Given the description of an element on the screen output the (x, y) to click on. 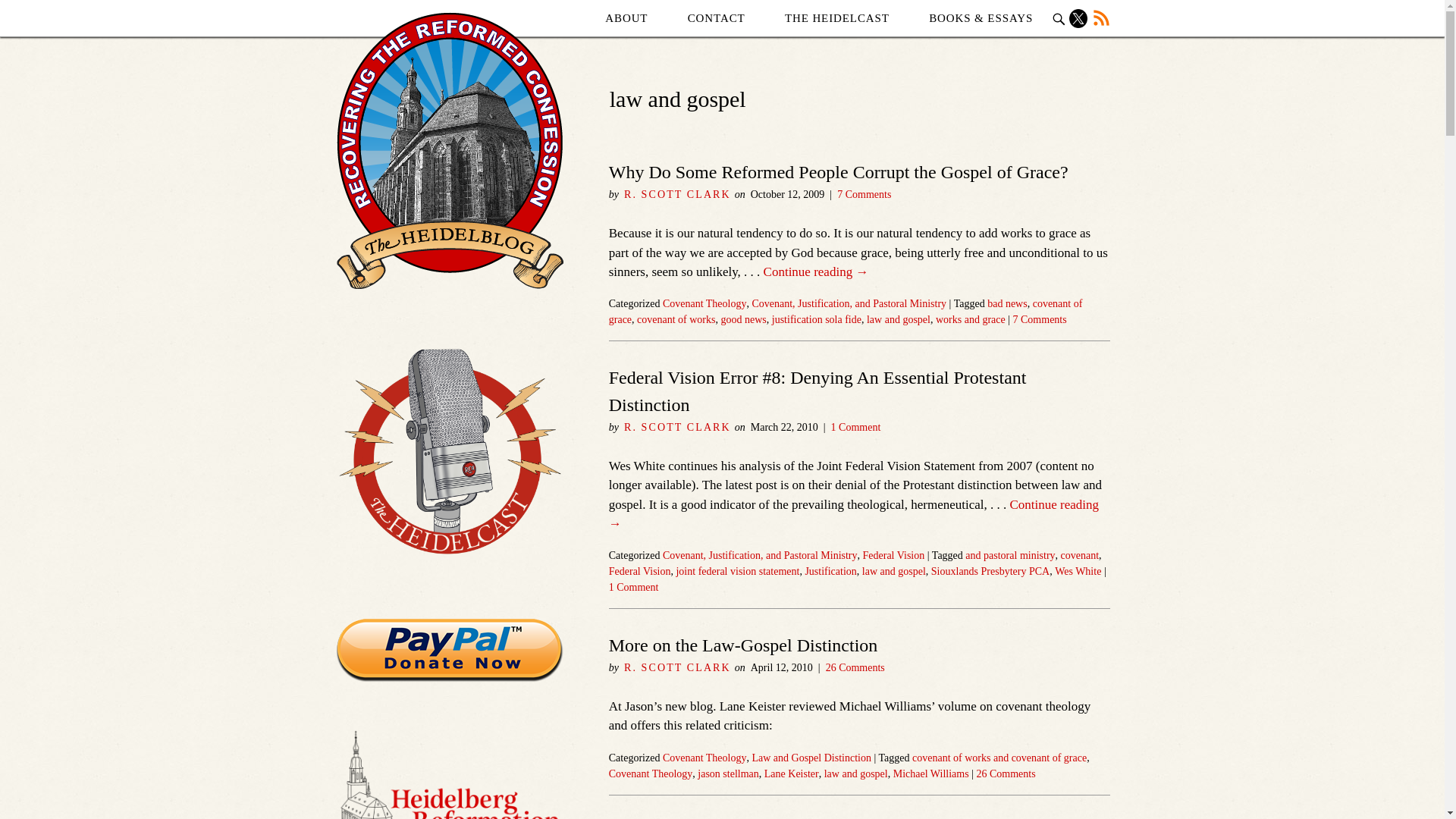
Covenant, Justification, and Pastoral Ministry (759, 555)
covenant of grace (845, 311)
Contact (715, 18)
CONTACT (715, 18)
R. SCOTT CLARK (677, 194)
law and gospel (898, 319)
Federal Vision (893, 555)
ABOUT (625, 18)
covenant of works (675, 319)
good news (742, 319)
